Given the description of an element on the screen output the (x, y) to click on. 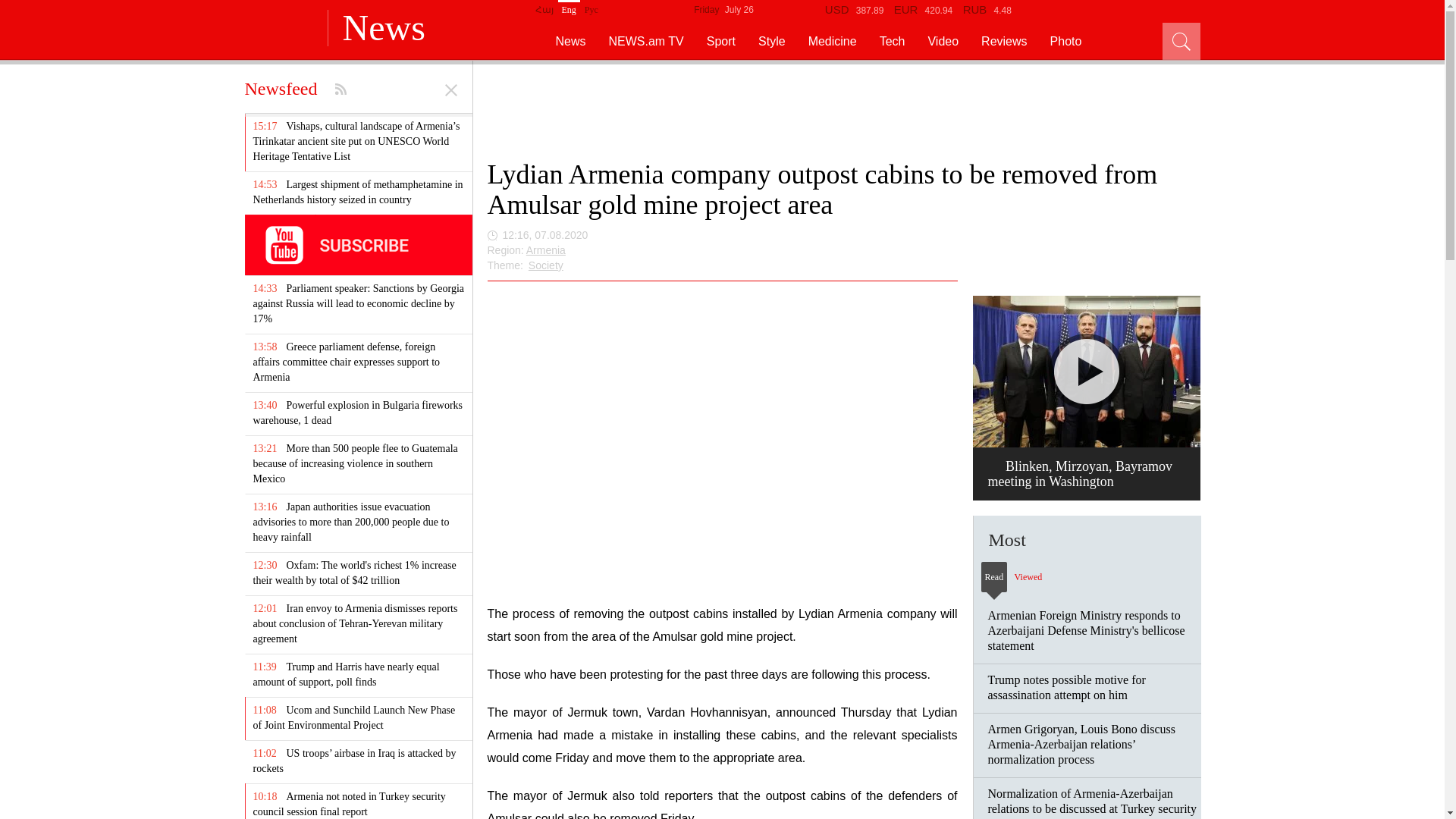
Sport (720, 41)
Style (772, 41)
Tech (892, 41)
NEWS.am TV (646, 41)
Reviews (1003, 41)
Photo (1065, 41)
Video (942, 41)
Medicine (832, 41)
News (558, 41)
Eng (568, 8)
